Given the description of an element on the screen output the (x, y) to click on. 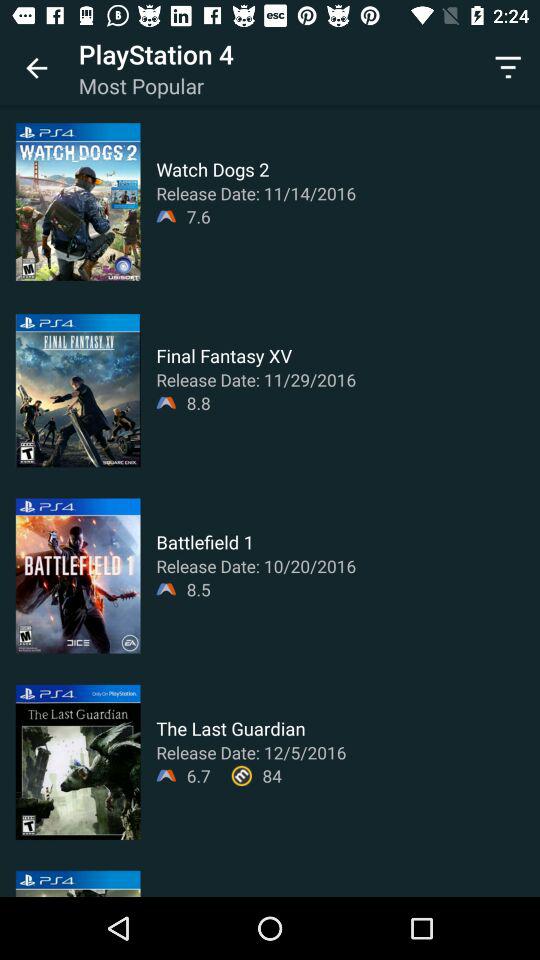
tap icon at the top right corner (508, 67)
